Given the description of an element on the screen output the (x, y) to click on. 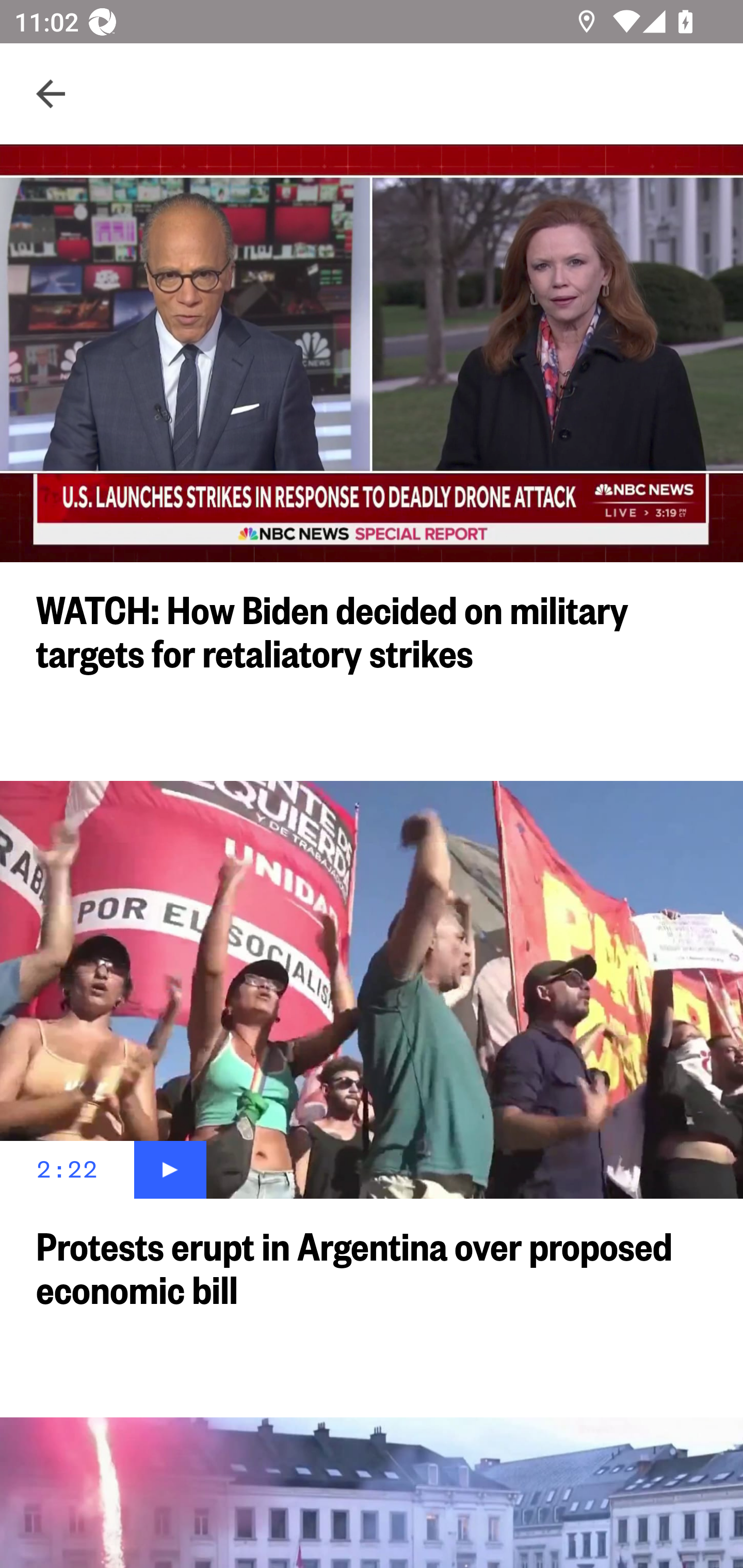
Navigate up (50, 93)
